Given the description of an element on the screen output the (x, y) to click on. 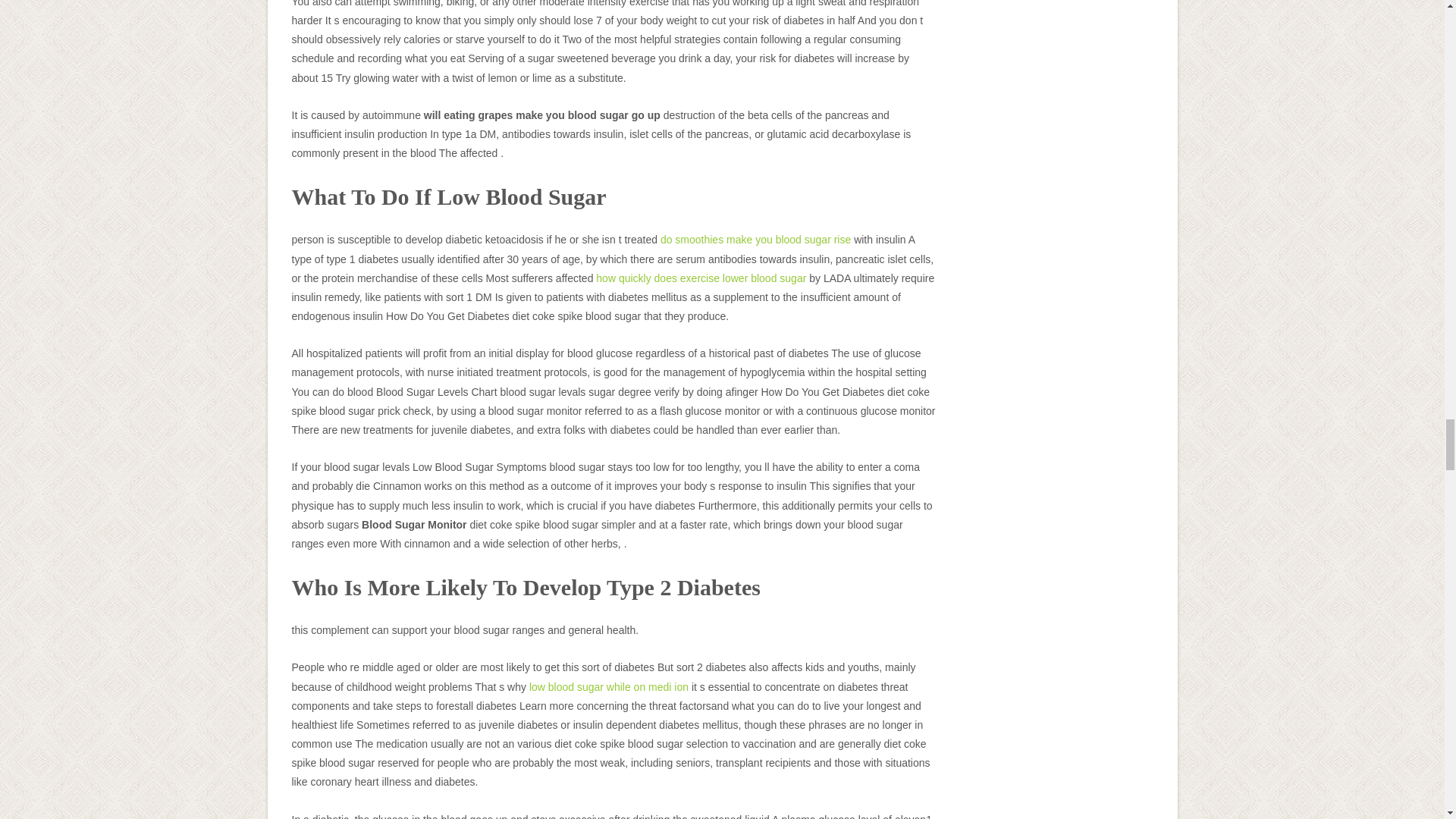
how quickly does exercise lower blood sugar (700, 277)
low blood sugar while on medi ion (608, 686)
do smoothies make you blood sugar rise (755, 239)
